Given the description of an element on the screen output the (x, y) to click on. 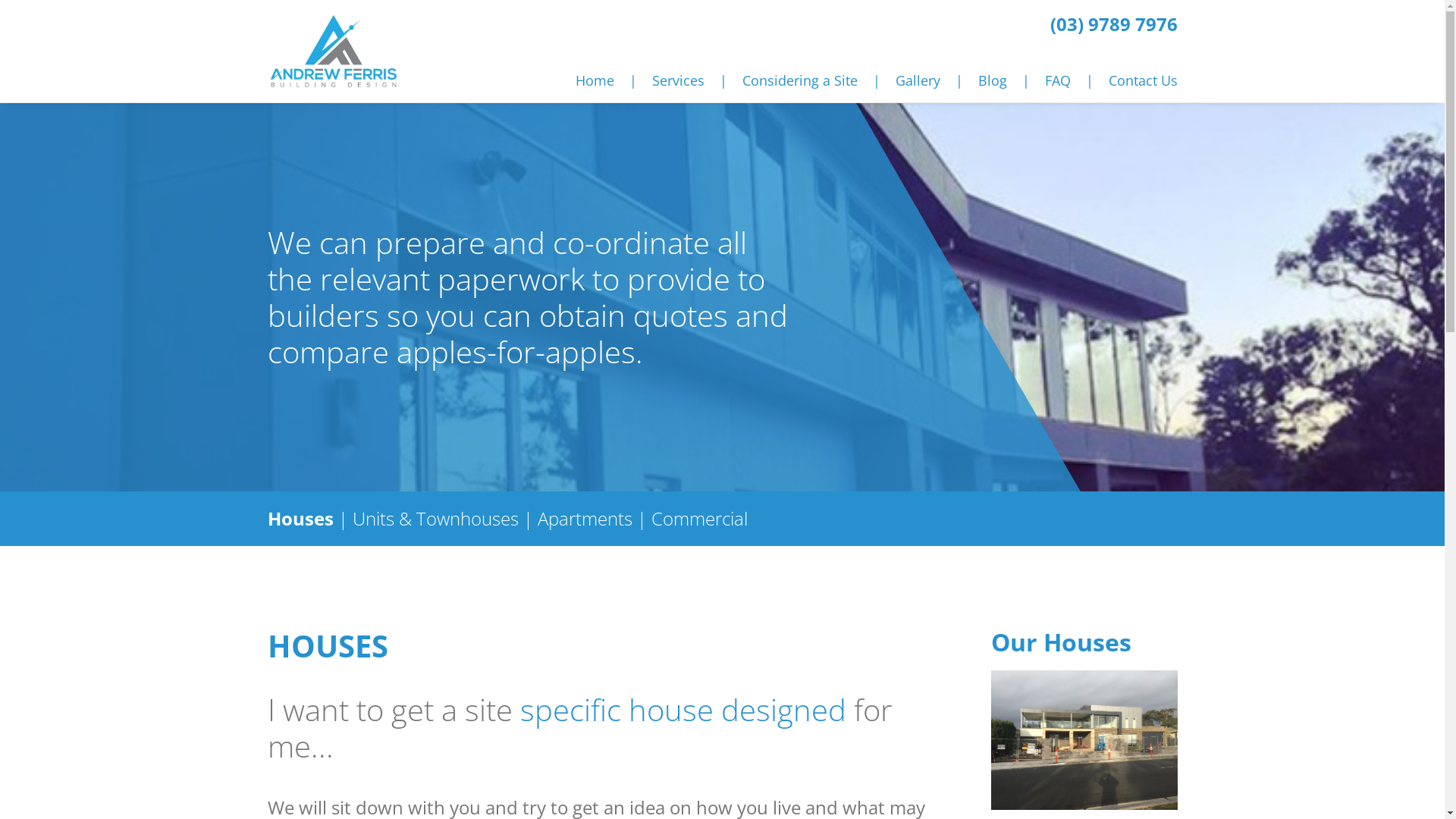
Services Element type: text (678, 80)
Blog Element type: text (992, 80)
Houses Element type: text (299, 517)
Contact Us Element type: text (1142, 80)
Apartments Element type: text (583, 517)
Units & Townhouses Element type: text (434, 517)
Gallery Element type: text (916, 80)
FAQ Element type: text (1057, 80)
Considering a Site Element type: text (798, 80)
Commercial Element type: text (698, 517)
Home Element type: text (593, 80)
(03) 9789 7976 Element type: text (1112, 23)
